Given the description of an element on the screen output the (x, y) to click on. 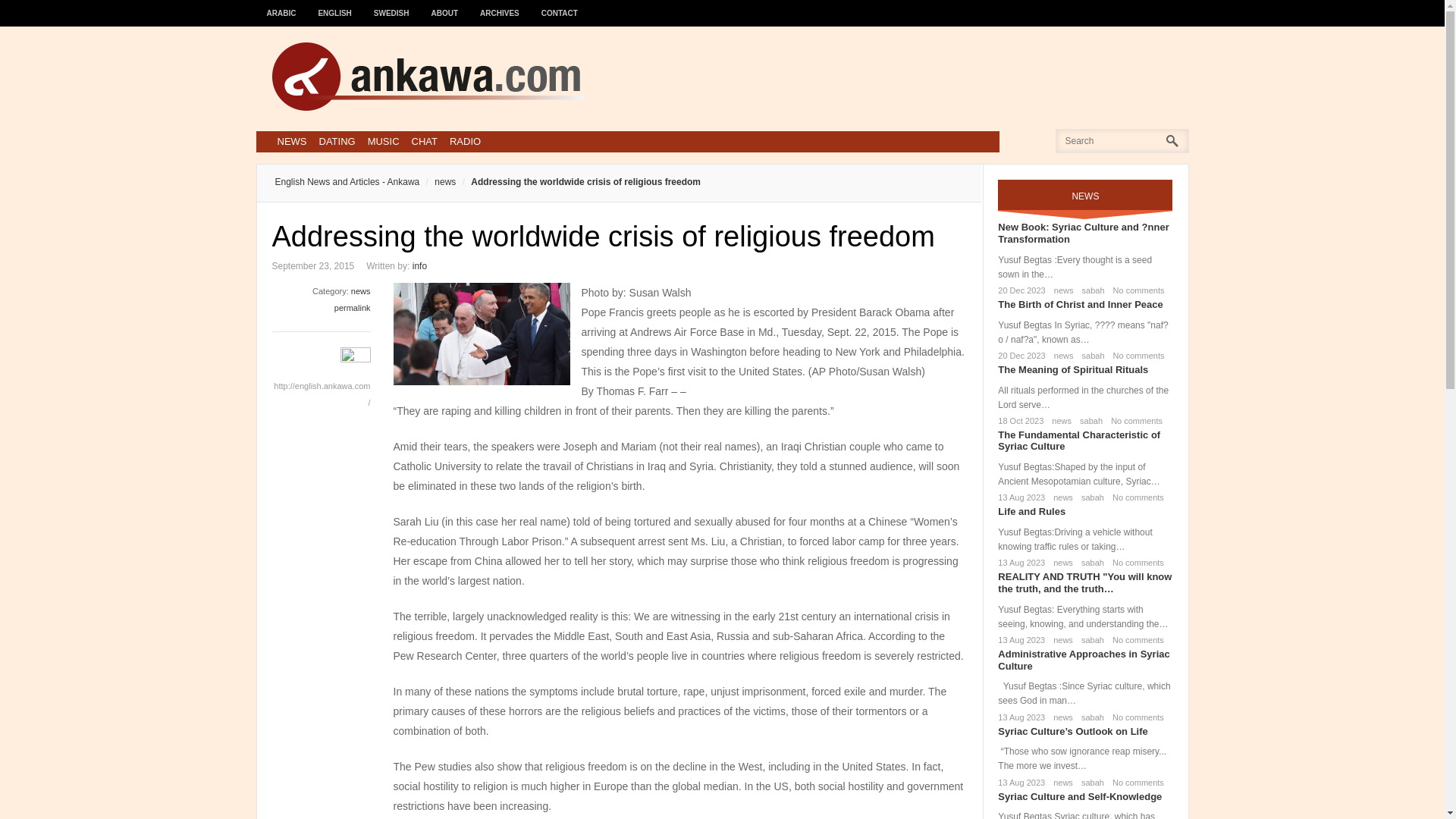
The Birth of Christ and Inner Peace (1079, 304)
English News and Articles - Ankawa (347, 181)
No comments (1135, 355)
New Book: Syriac Culture and ?nner Transformation (1083, 232)
permalink (352, 307)
Administrative Approaches in Syriac Culture (1083, 659)
Search (35, 15)
The Fundamental Characteristic of Syriac Culture (1078, 440)
RADIO (465, 141)
The Meaning of Spiritual Rituals (1072, 369)
news (1058, 420)
news (360, 290)
CONTACT (560, 5)
ARCHIVES (499, 5)
